Given the description of an element on the screen output the (x, y) to click on. 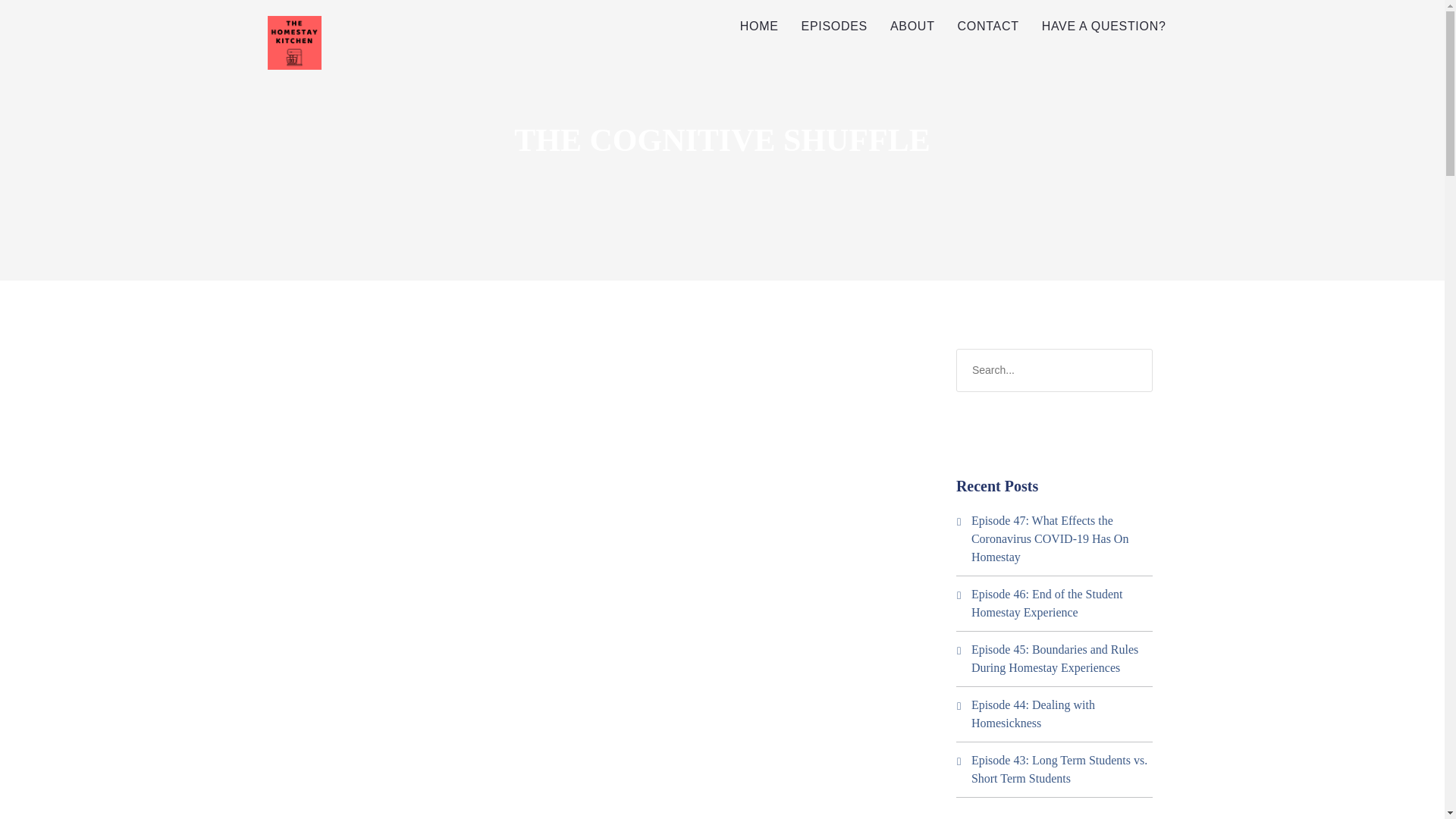
EPISODES (834, 26)
HOME (759, 26)
Episode 43: Long Term Students vs. Short Term Students (1059, 768)
CONTACT (988, 26)
Episode 46: End of the Student Homestay Experience (1046, 603)
Submit (32, 22)
Episode 44: Dealing with Homesickness (1032, 713)
ABOUT (912, 26)
Episode 45: Boundaries and Rules During Homestay Experiences (1054, 658)
HAVE A QUESTION? (1103, 26)
